Given the description of an element on the screen output the (x, y) to click on. 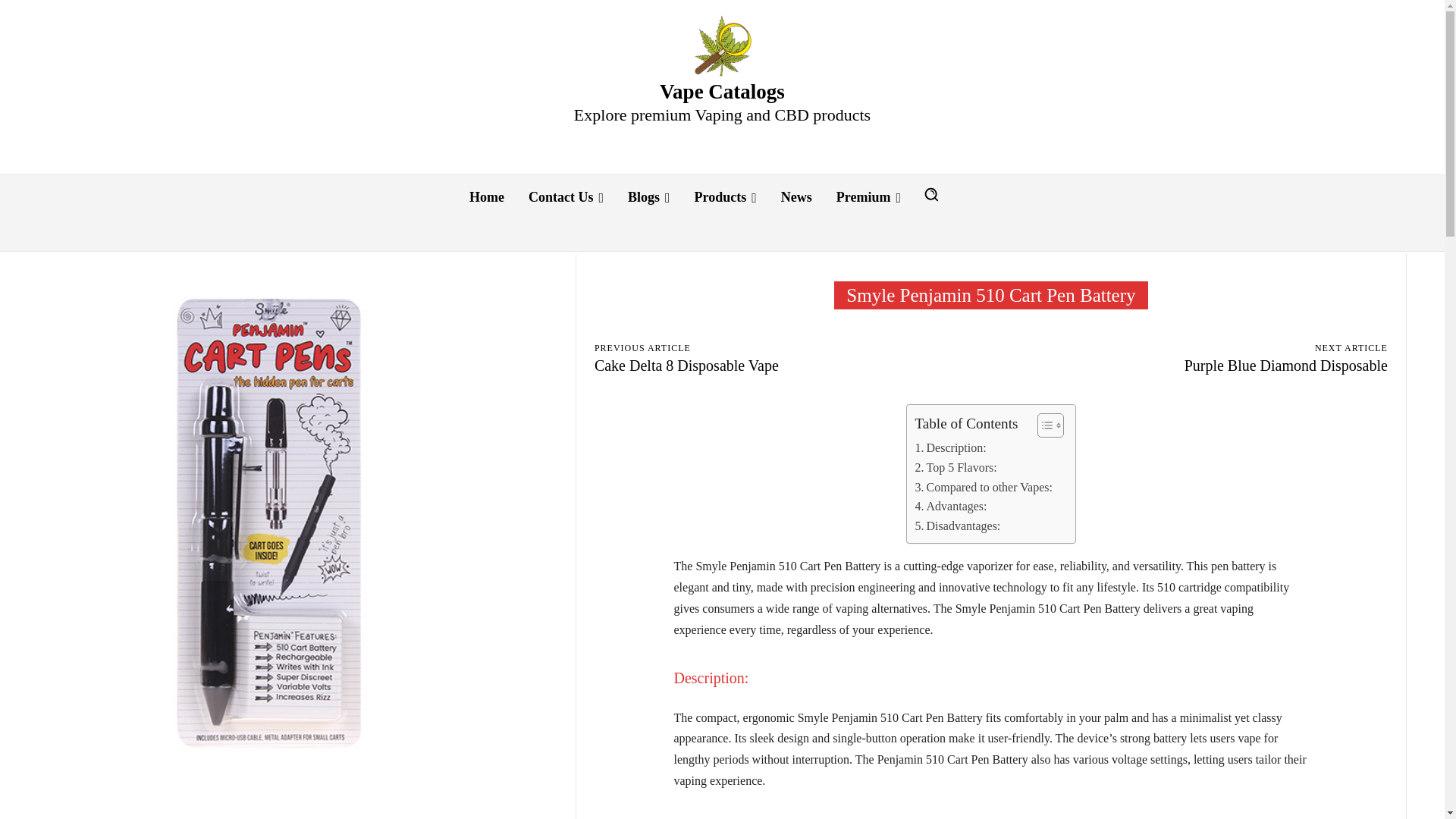
Contact Us (565, 197)
Description: (949, 447)
Home (486, 197)
Premium (868, 197)
News (796, 197)
Blogs (648, 197)
Vape Catalogs (722, 45)
Products (725, 197)
